Given the description of an element on the screen output the (x, y) to click on. 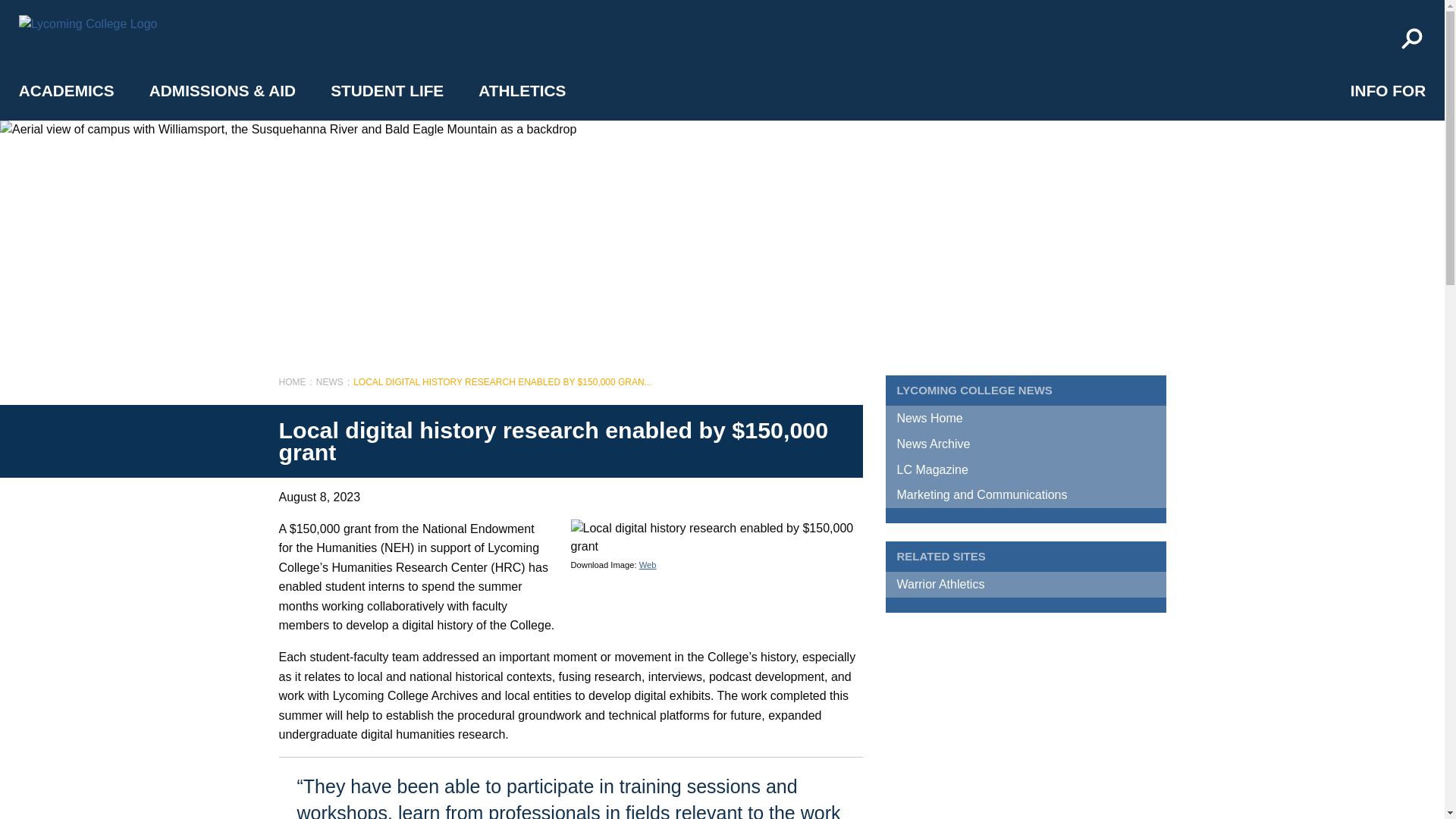
STUDENT LIFE (387, 90)
ACADEMICS (66, 90)
INFO FOR (1388, 90)
Search (1411, 38)
ATHLETICS (521, 90)
